Given the description of an element on the screen output the (x, y) to click on. 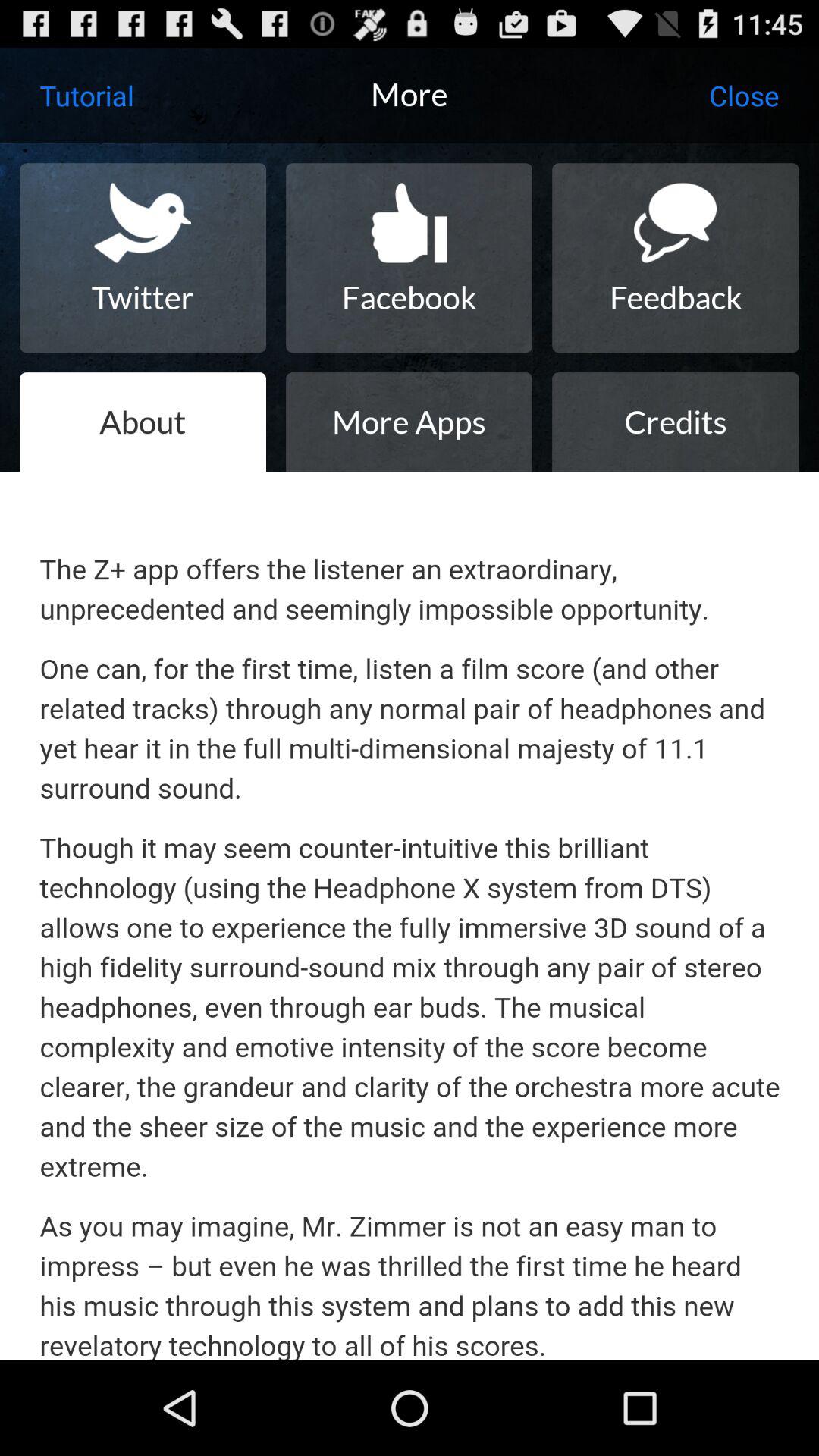
press item below about icon (409, 916)
